Given the description of an element on the screen output the (x, y) to click on. 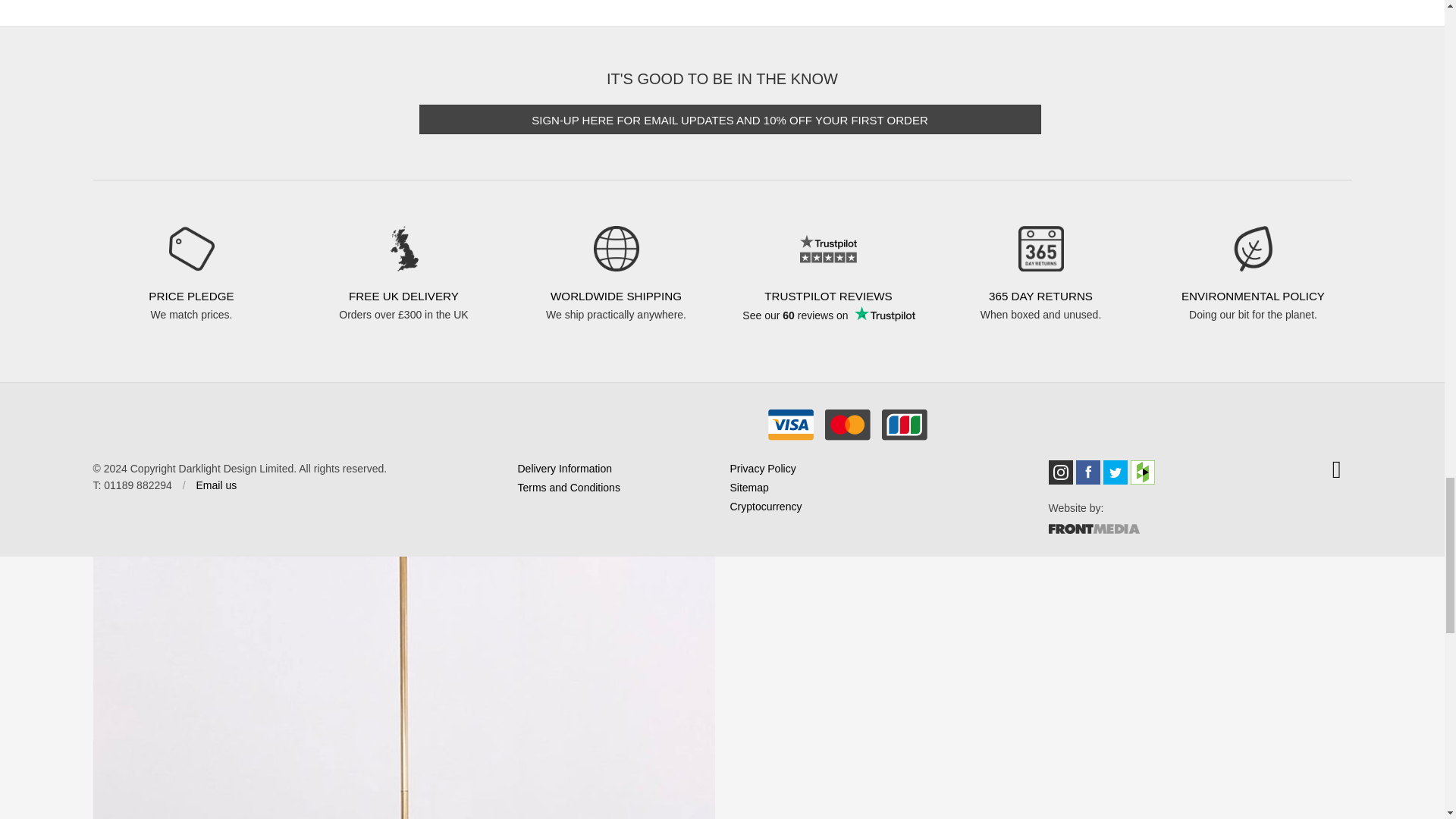
Customer reviews powered by Trustpilot (827, 324)
